Given the description of an element on the screen output the (x, y) to click on. 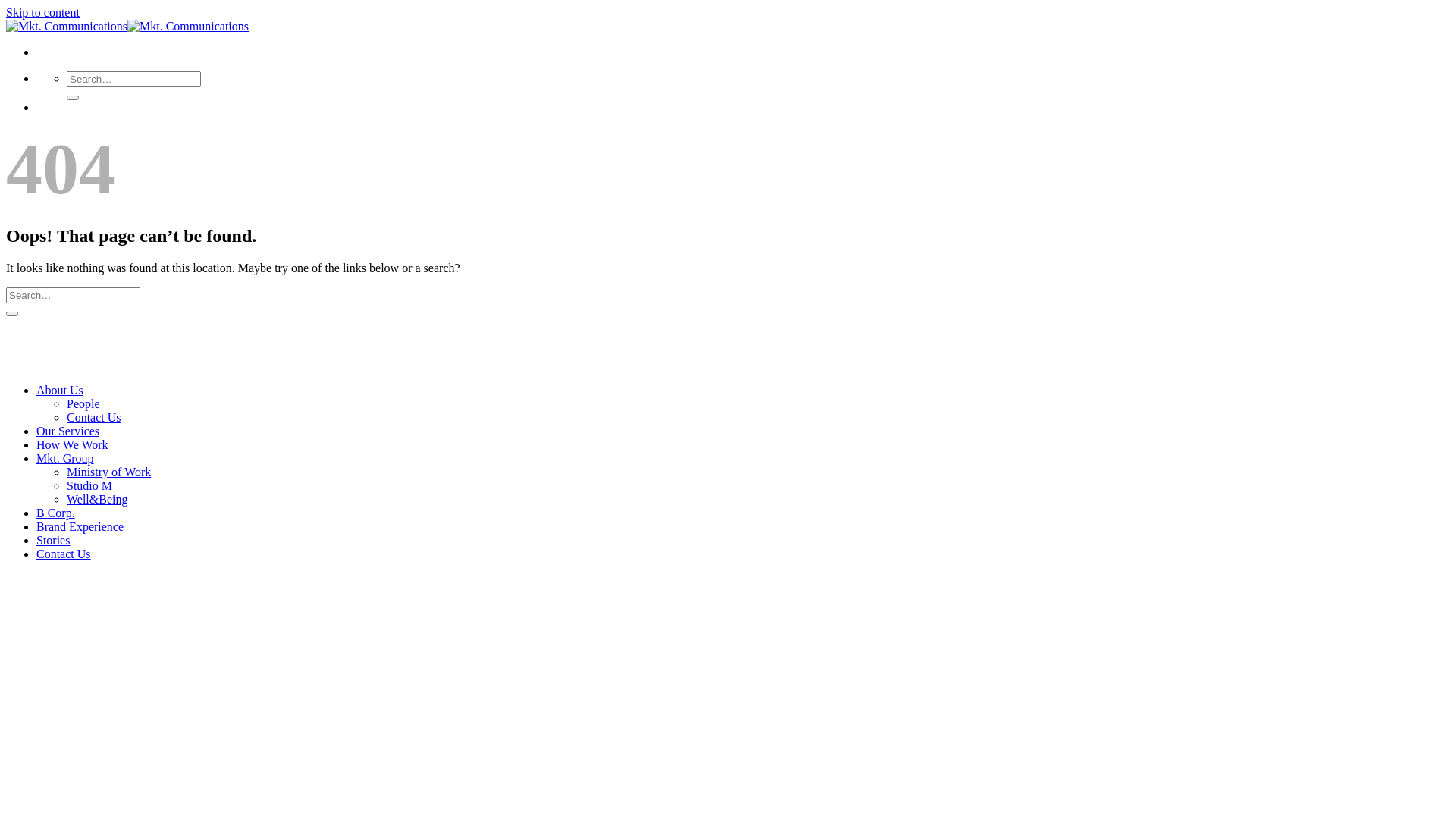
Well&Being Element type: text (96, 498)
Contact Us Element type: text (63, 553)
B Corp. Element type: text (55, 512)
Ministry of Work Element type: text (108, 471)
Brand Experience Element type: text (79, 526)
Contact Us Element type: text (93, 417)
How We Work Element type: text (72, 444)
Studio M Element type: text (89, 485)
Stories Element type: text (52, 539)
Our Services Element type: text (67, 430)
Skip to content Element type: text (42, 12)
People Element type: text (83, 403)
Mkt. Group Element type: text (65, 457)
About Us Element type: text (59, 389)
